Given the description of an element on the screen output the (x, y) to click on. 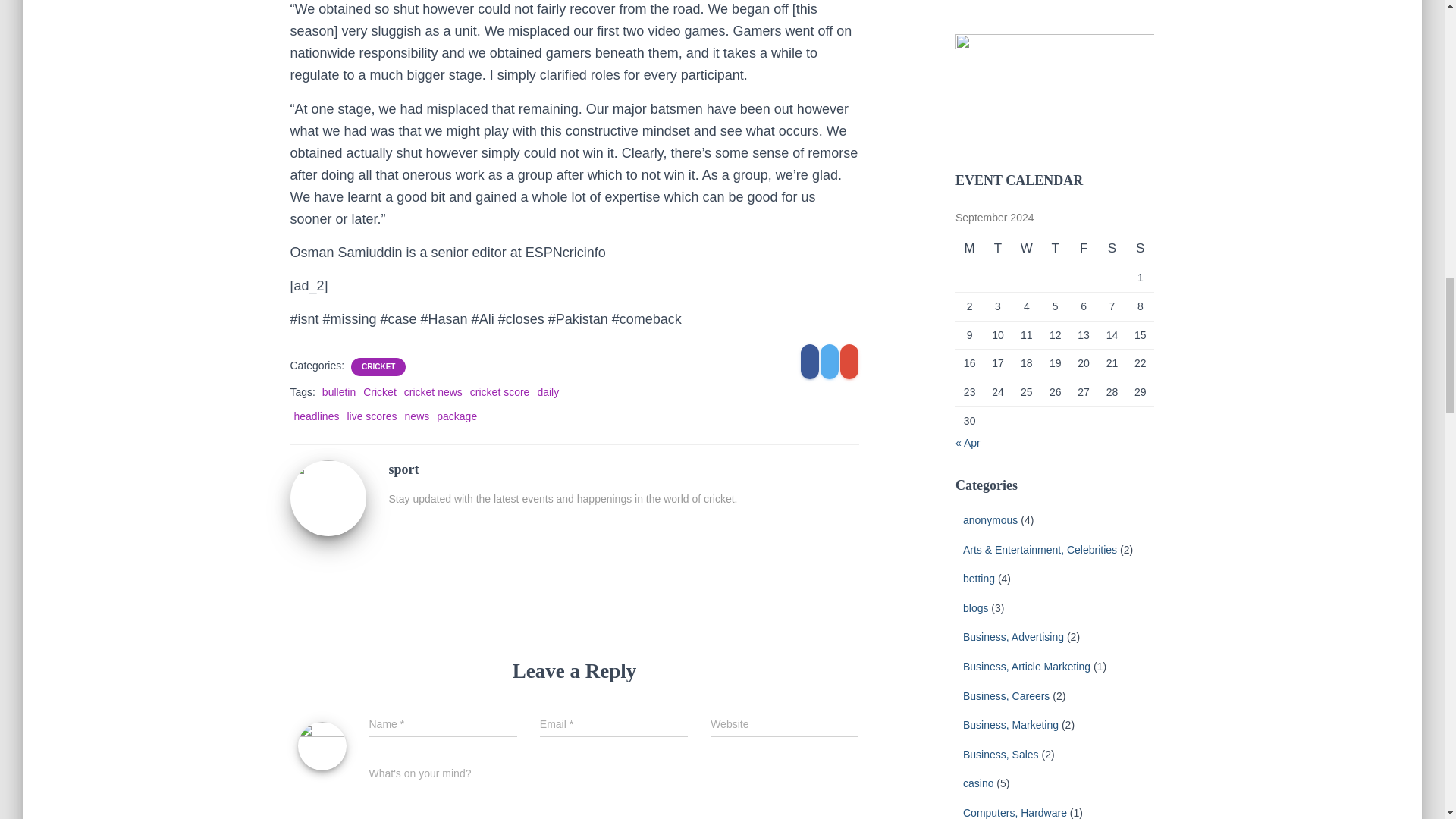
sport (327, 497)
bulletin (338, 391)
cricket news (433, 391)
anonymous (989, 520)
news (416, 416)
Wednesday (1026, 248)
anonymous (989, 520)
CRICKET (377, 366)
live scores (371, 416)
cricket score (499, 391)
